Given the description of an element on the screen output the (x, y) to click on. 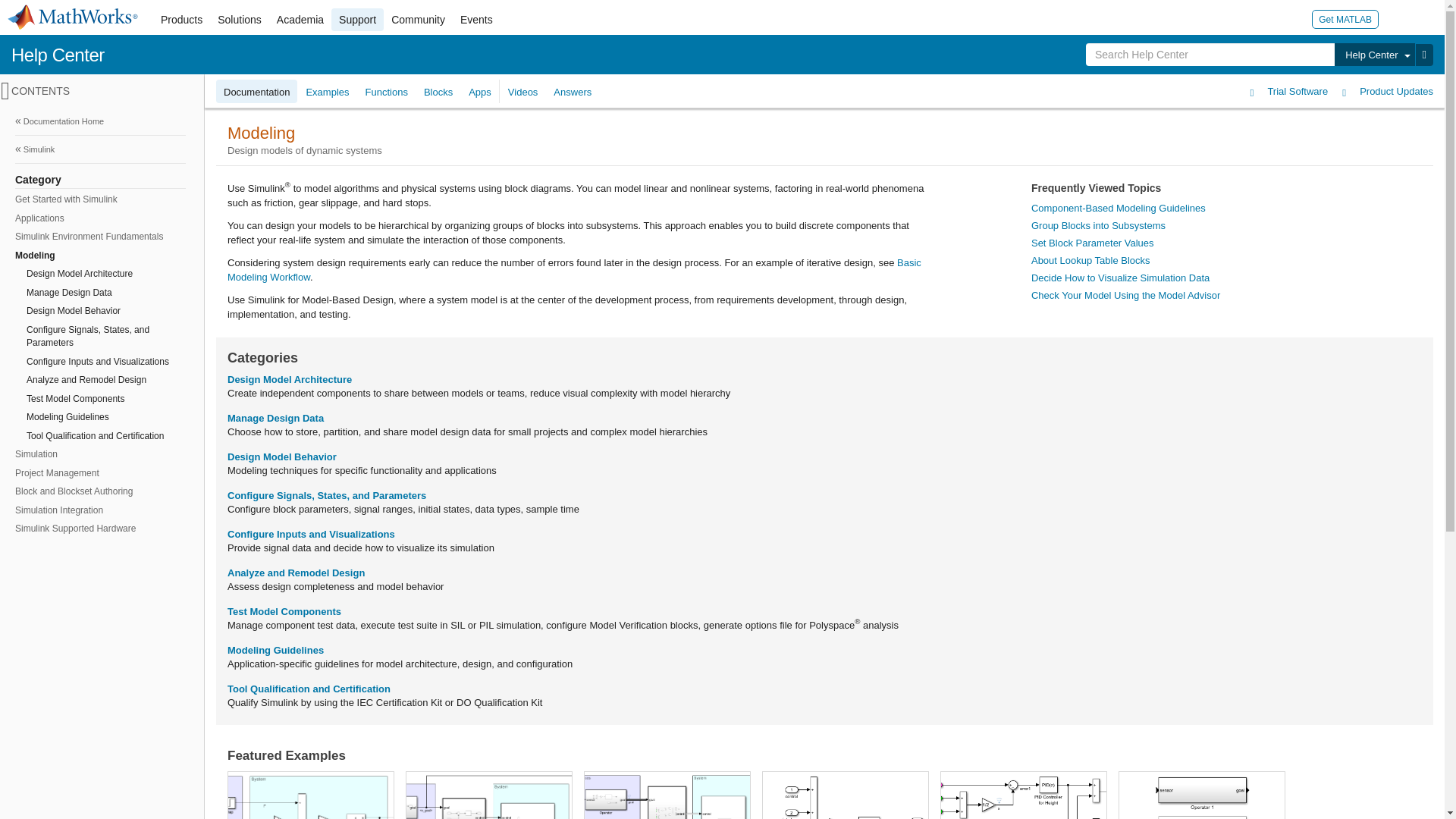
Solutions (239, 19)
Simulink (100, 149)
Documentation Home (100, 121)
Get Started with Simulink (98, 199)
Events (476, 19)
Support (357, 19)
Academia (300, 19)
Modeling (98, 255)
Help Center (1374, 54)
Design Model Architecture (104, 273)
Applications (98, 218)
Help Center (57, 54)
Get MATLAB (1344, 18)
Sign In to Your MathWorks Account (1396, 18)
Products (180, 19)
